Given the description of an element on the screen output the (x, y) to click on. 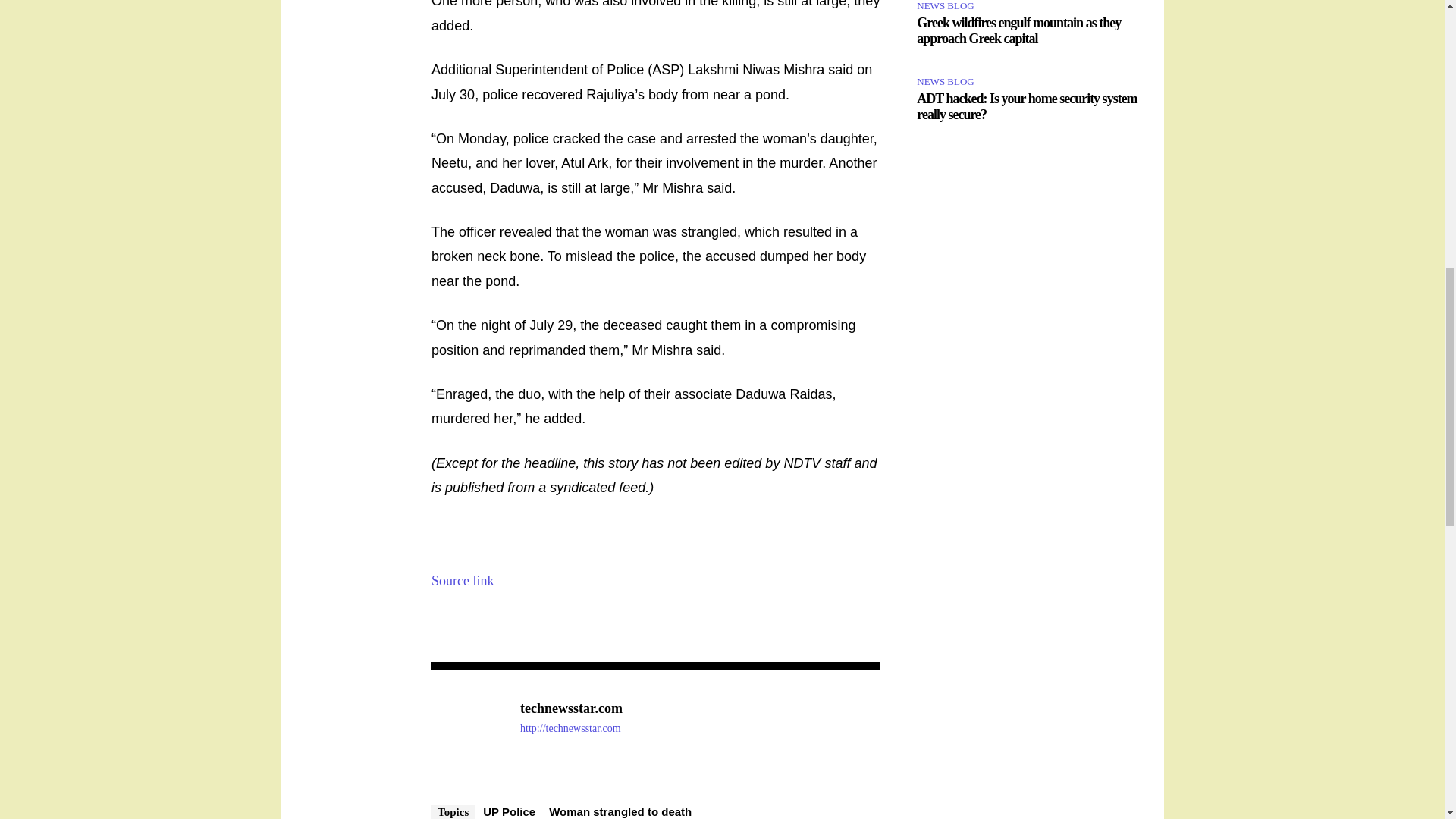
Source link (462, 580)
UP Police (508, 811)
technewsstar.com (571, 709)
Woman strangled to death (620, 811)
